Given the description of an element on the screen output the (x, y) to click on. 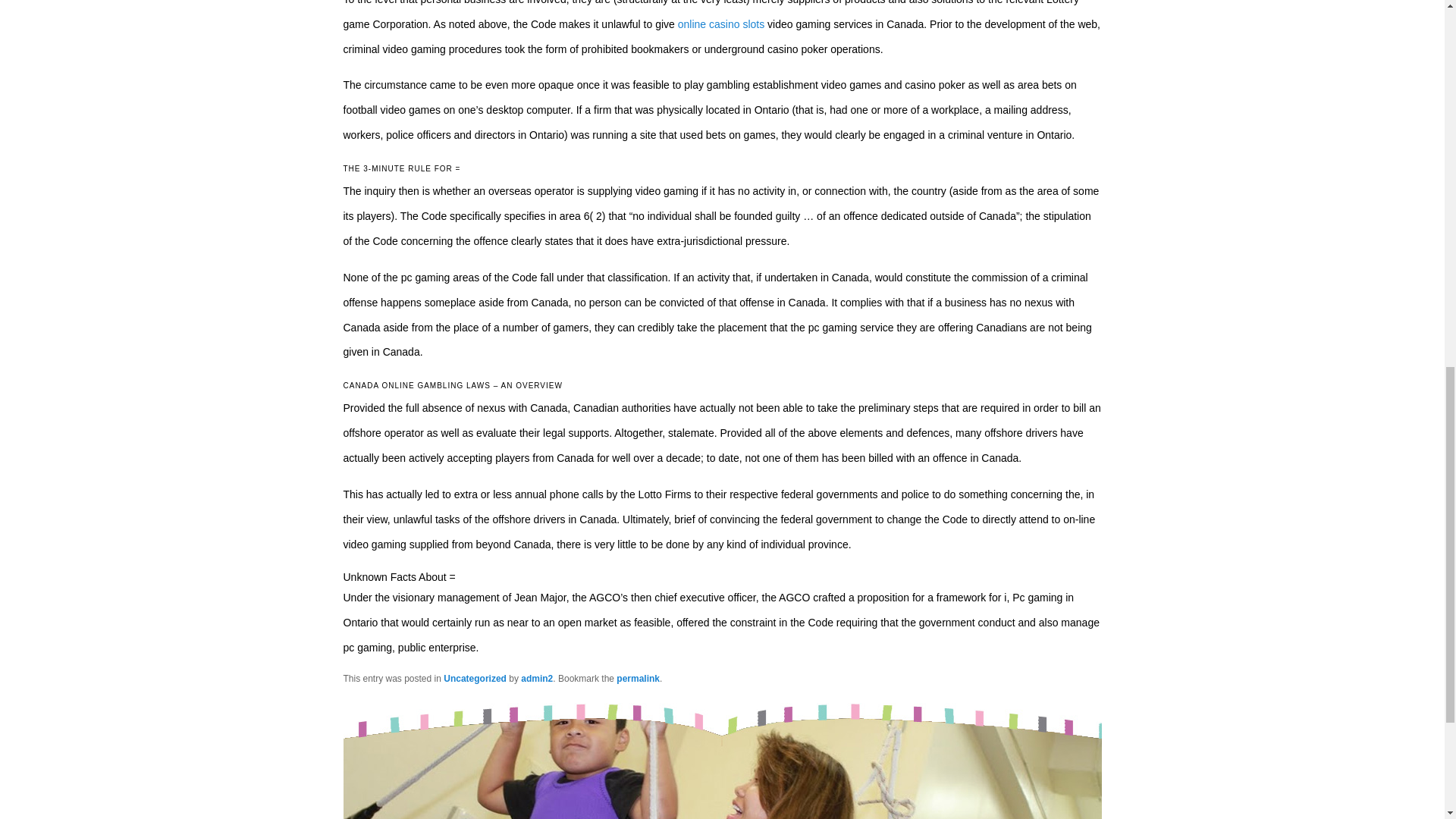
permalink (637, 678)
Uncategorized (475, 678)
online casino slots (721, 24)
admin2 (537, 678)
